Given the description of an element on the screen output the (x, y) to click on. 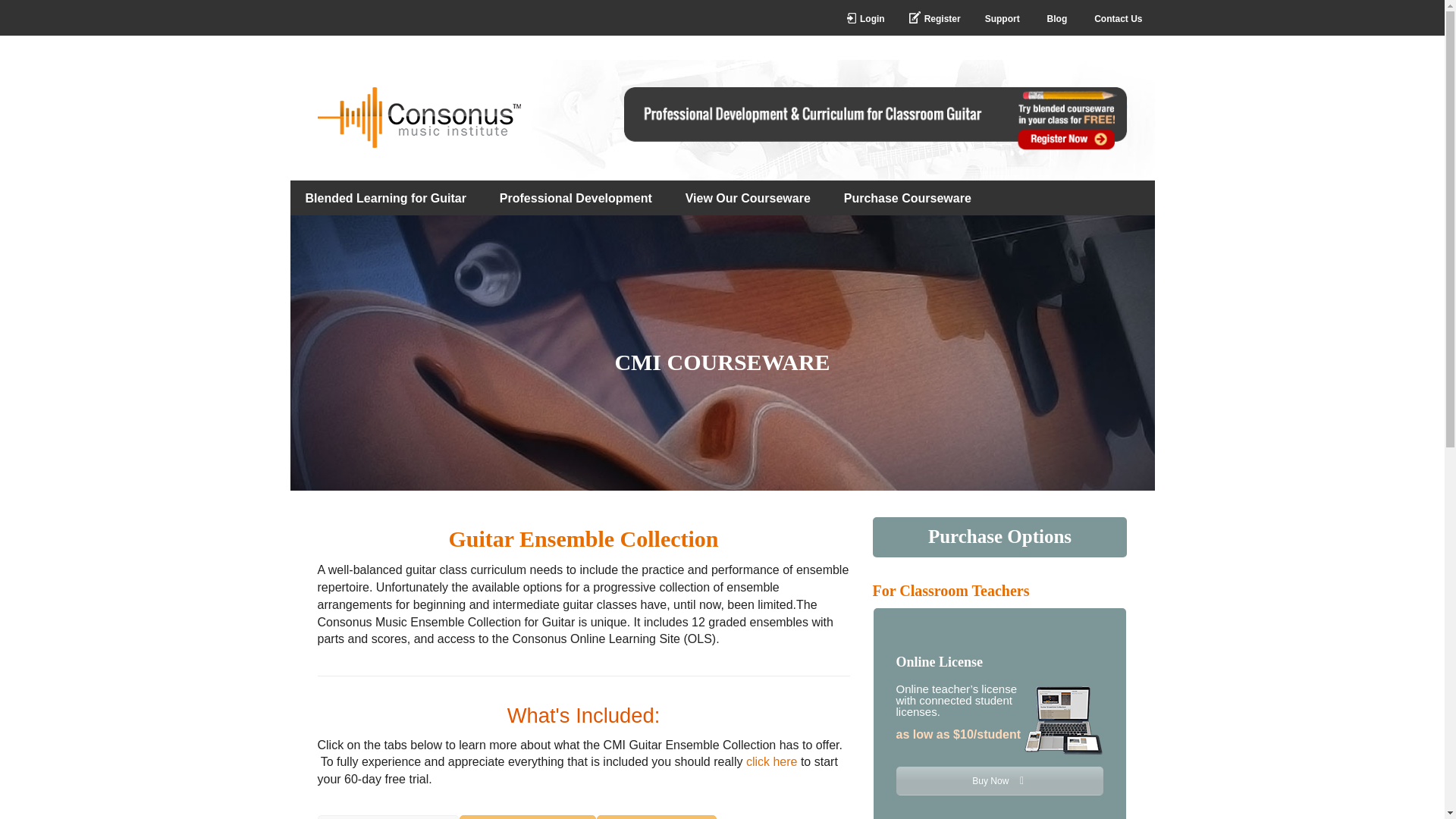
Course Syllabus (656, 816)
Register (934, 18)
Blended Learning for Guitar (384, 197)
Login (865, 18)
Professional Development and Curriculum for Classroom Guitar (874, 146)
View Our Courseware (747, 197)
View the Workbook (527, 816)
Blog (1057, 18)
click here (771, 761)
Support (1002, 18)
Contact Us (1117, 18)
Online Learning Site (387, 816)
Purchase Courseware (907, 197)
CONSONUS MUSIC INSTITUTE (419, 117)
Professional Development (575, 197)
